Given the description of an element on the screen output the (x, y) to click on. 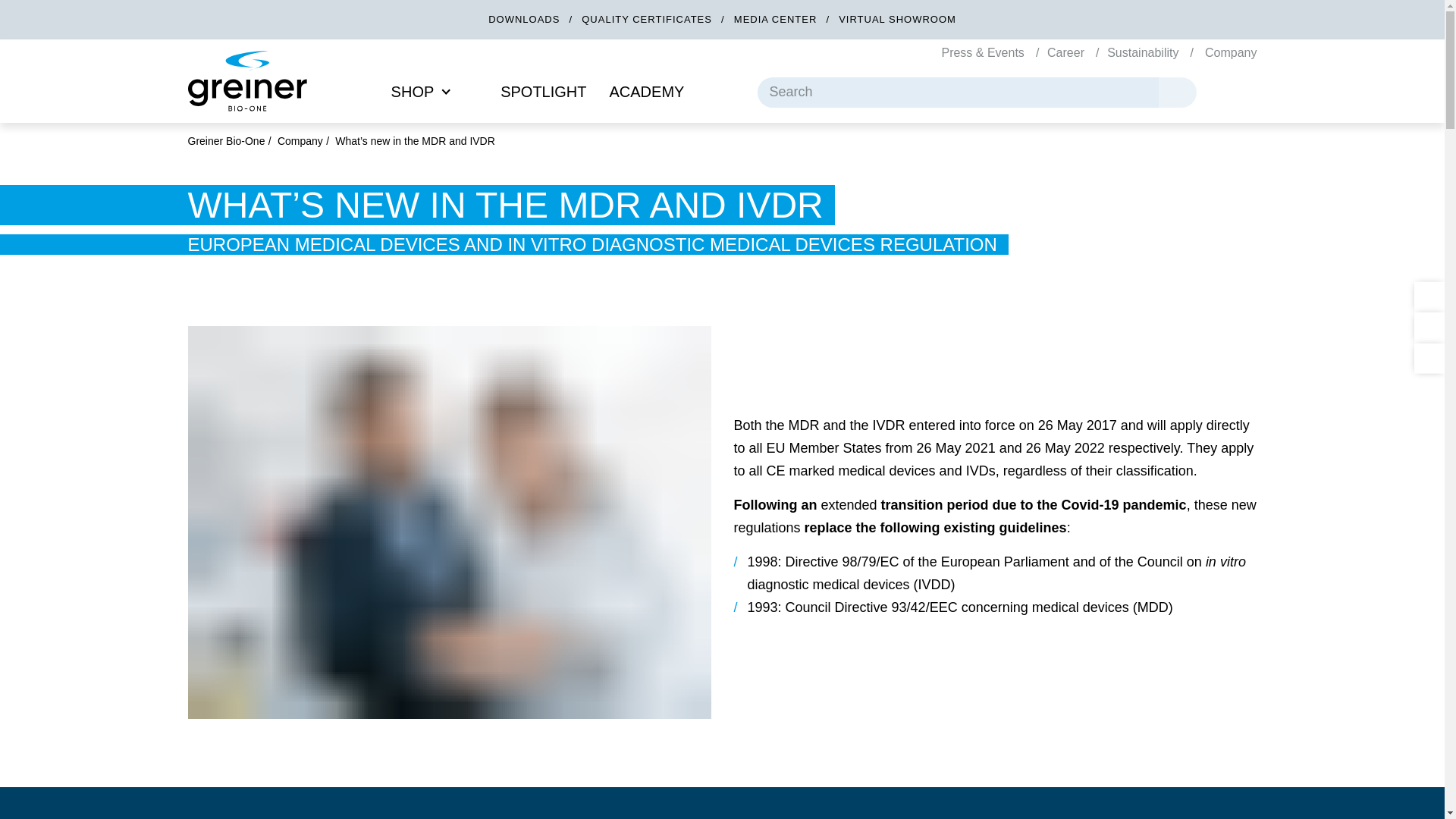
Linkedin (1429, 295)
MEDIA CENTER (777, 19)
YouTube (1429, 325)
Facebook (1429, 355)
VIRTUAL SHOWROOM (897, 19)
DOWNLOADS (525, 19)
Contact (1237, 91)
QUALITY CERTIFICATES (647, 19)
